Given the description of an element on the screen output the (x, y) to click on. 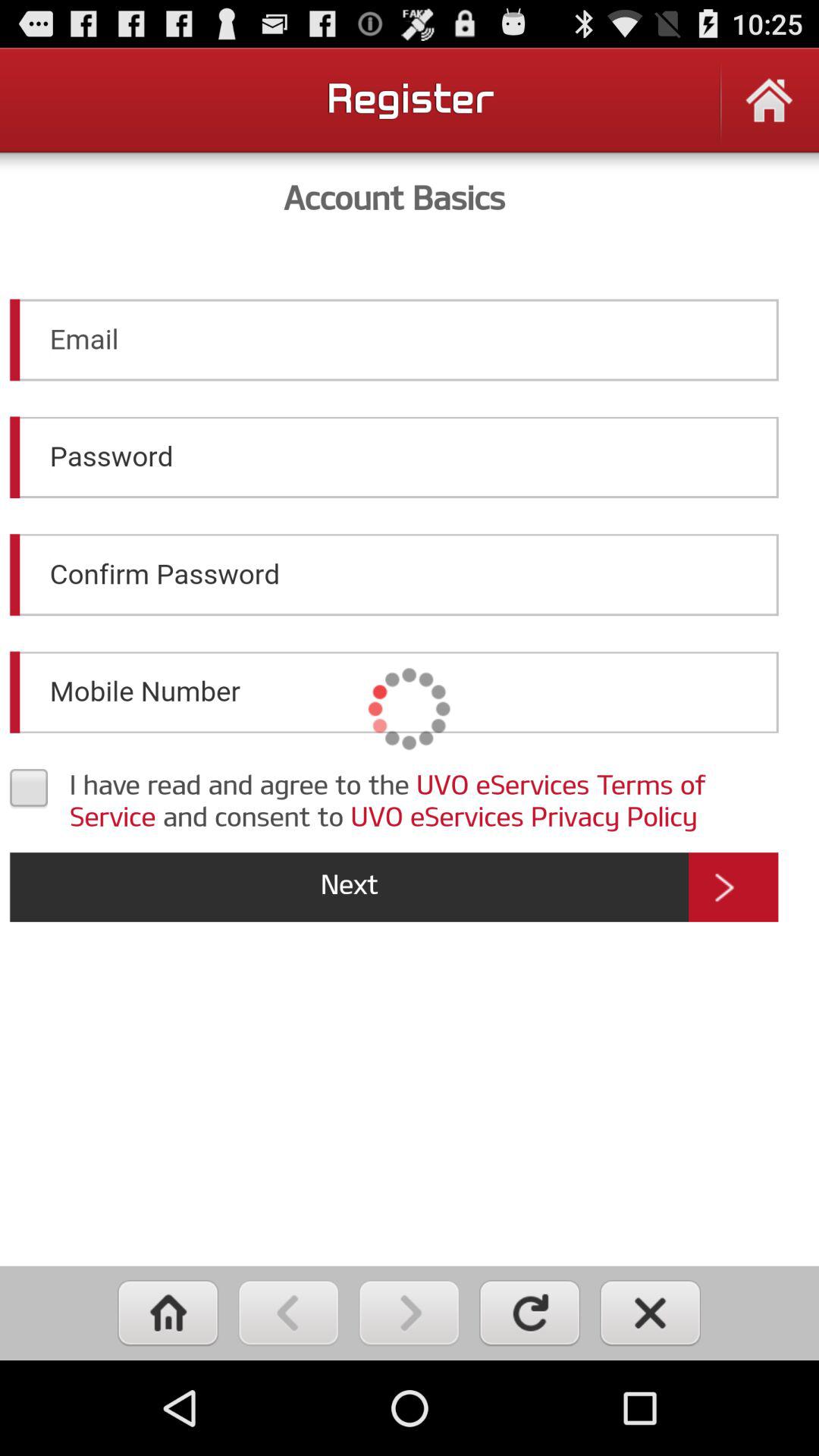
go homepage (167, 1313)
